Given the description of an element on the screen output the (x, y) to click on. 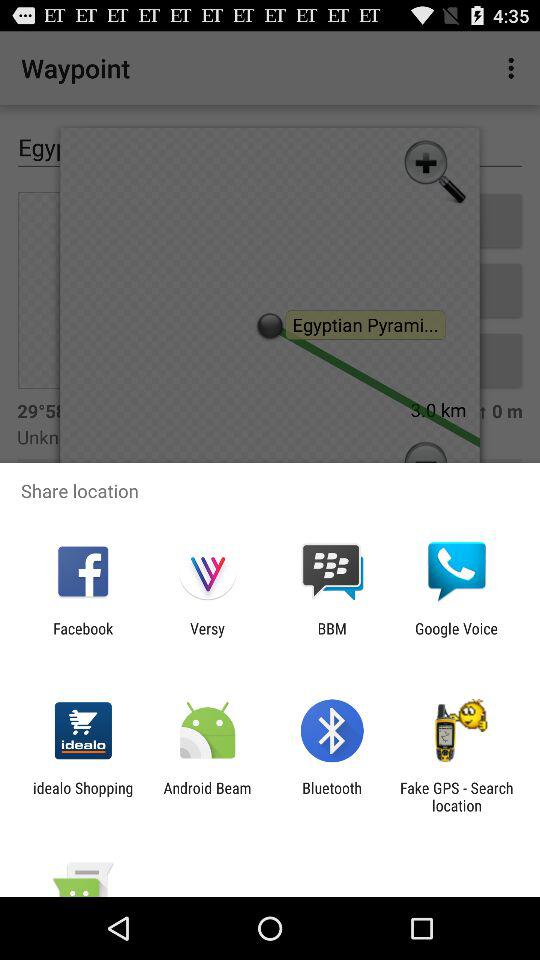
click the versy item (207, 637)
